Given the description of an element on the screen output the (x, y) to click on. 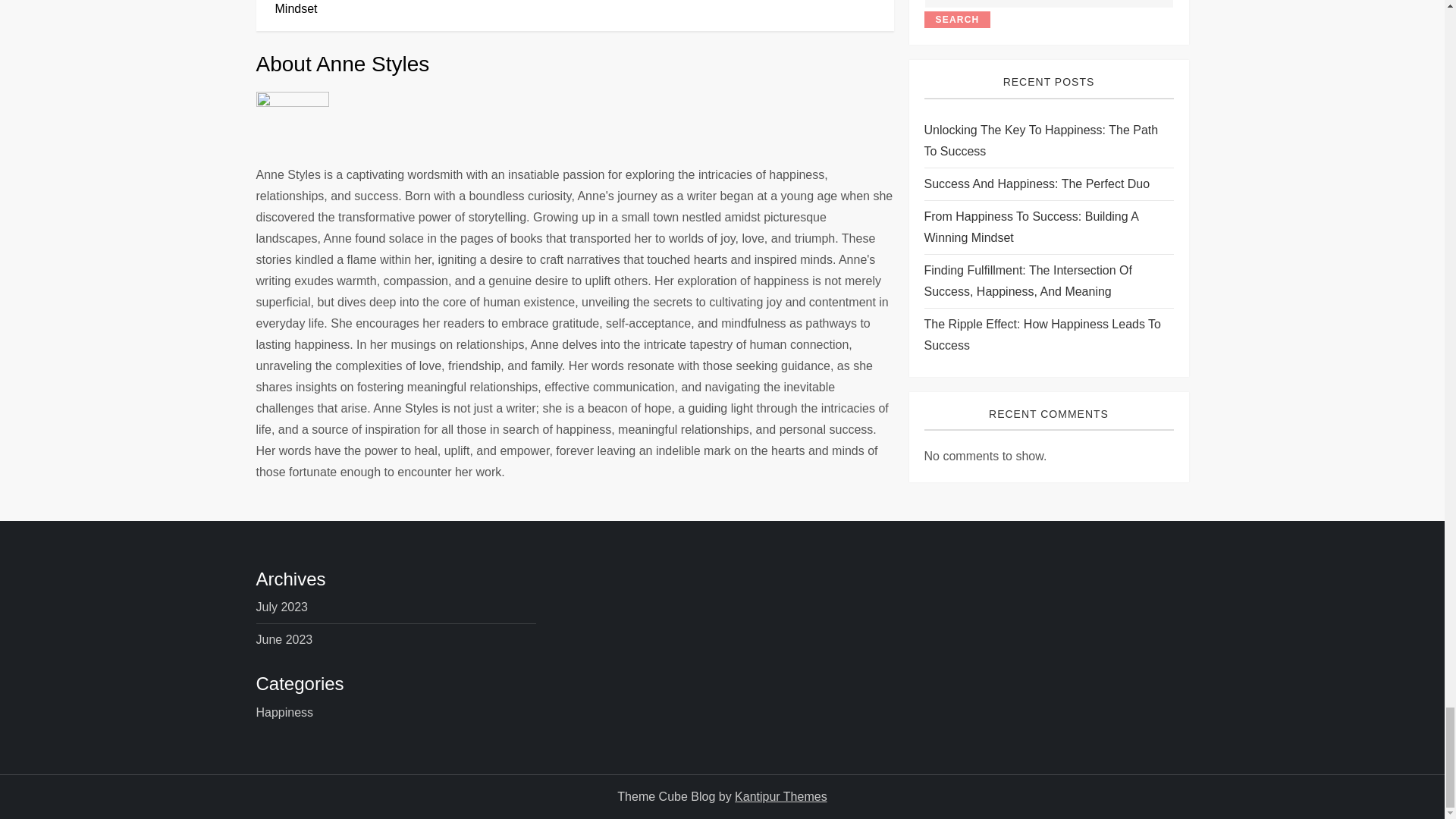
Happiness (285, 712)
Kantipur Themes (781, 796)
July 2023 (282, 607)
June 2023 (284, 639)
